Given the description of an element on the screen output the (x, y) to click on. 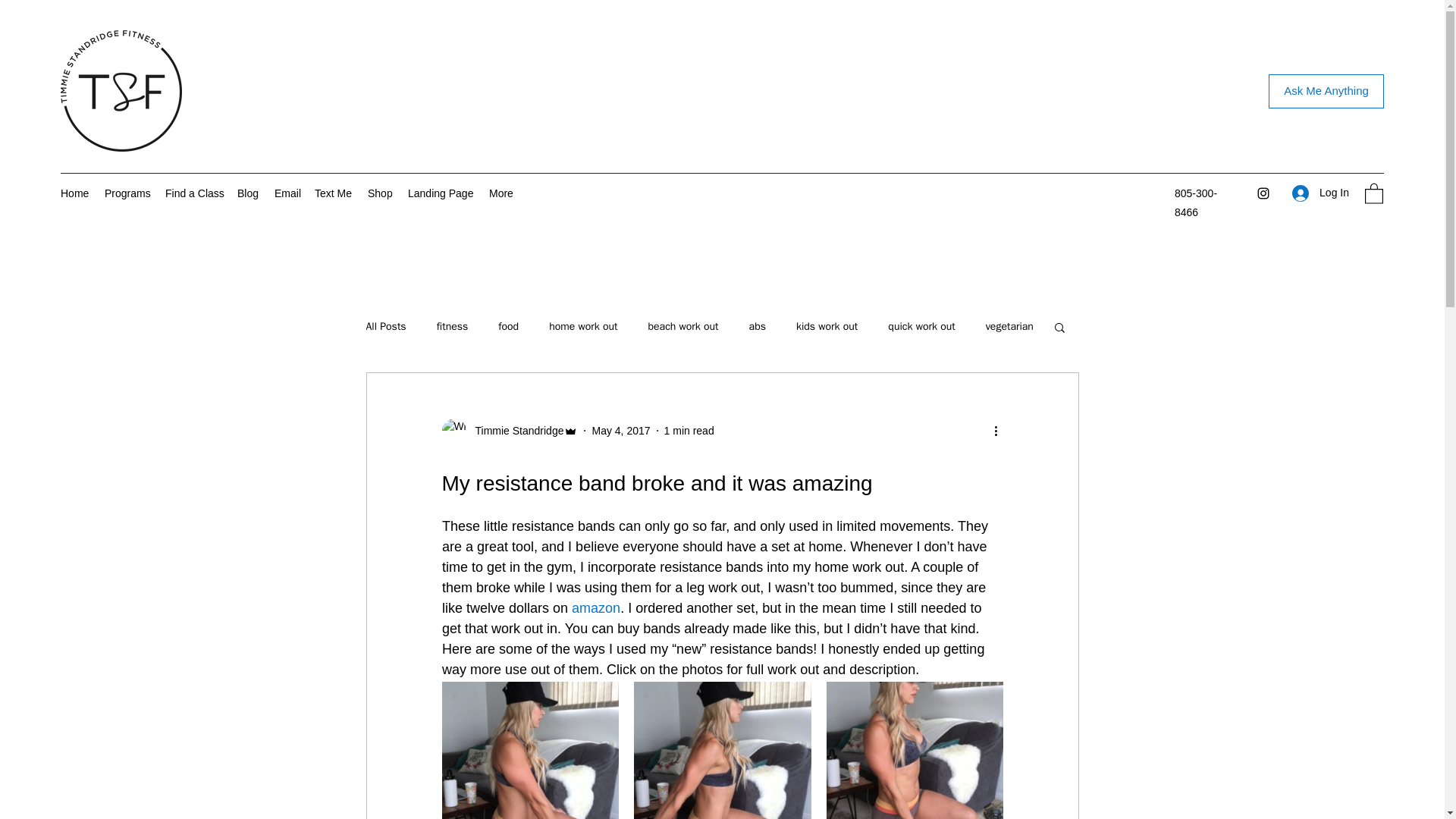
Find a Class (193, 192)
Log In (1320, 193)
Email (286, 192)
quick work out (921, 326)
1 min read (688, 430)
fitness (452, 326)
amazon (596, 607)
beach work out (682, 326)
vegetarian (1009, 326)
abs (757, 326)
